Given the description of an element on the screen output the (x, y) to click on. 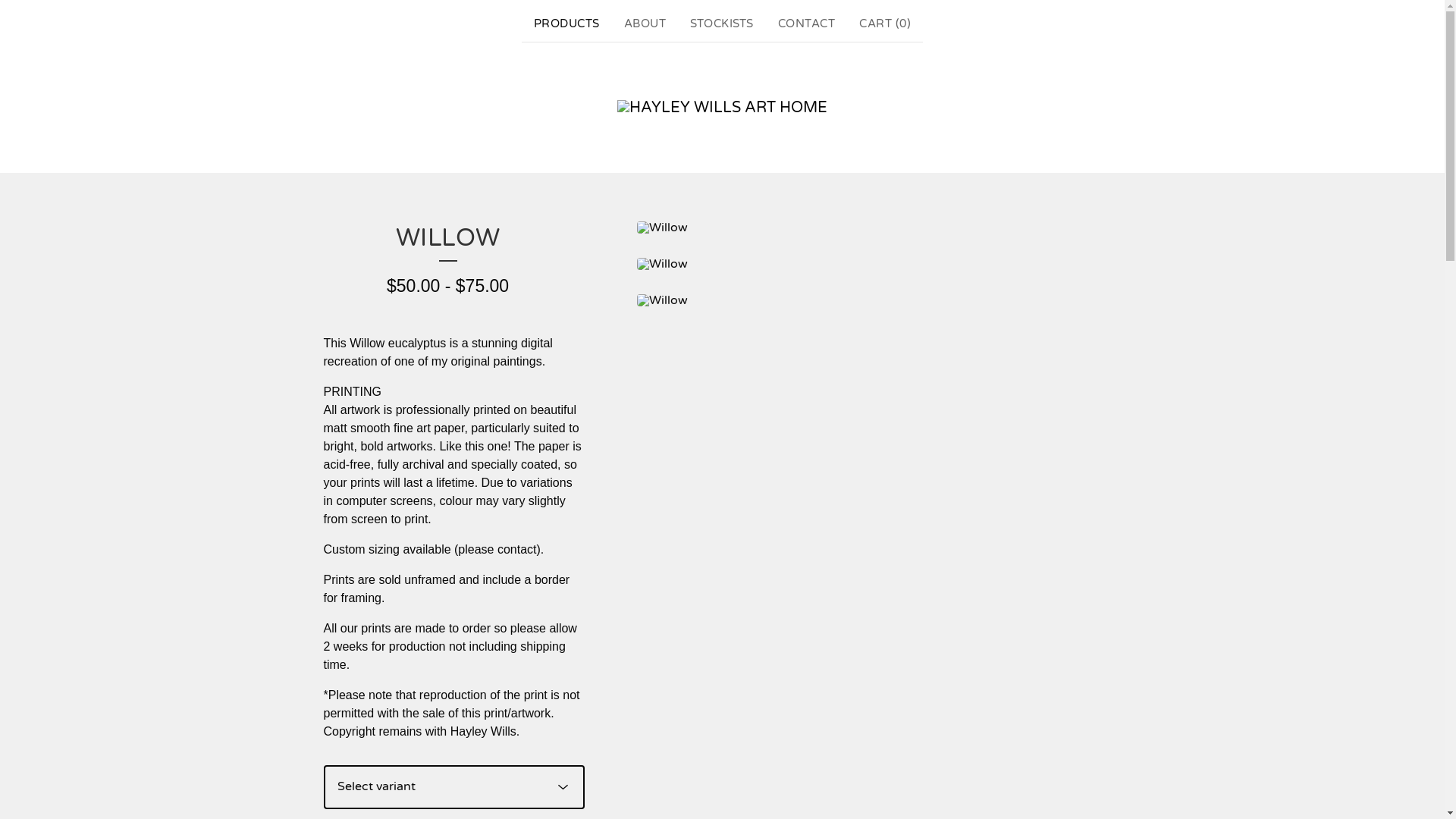
CONTACT Element type: text (806, 23)
Home Element type: hover (722, 107)
CART (0) Element type: text (884, 23)
ABOUT Element type: text (645, 23)
PRODUCTS Element type: text (566, 23)
STOCKISTS Element type: text (721, 23)
